Given the description of an element on the screen output the (x, y) to click on. 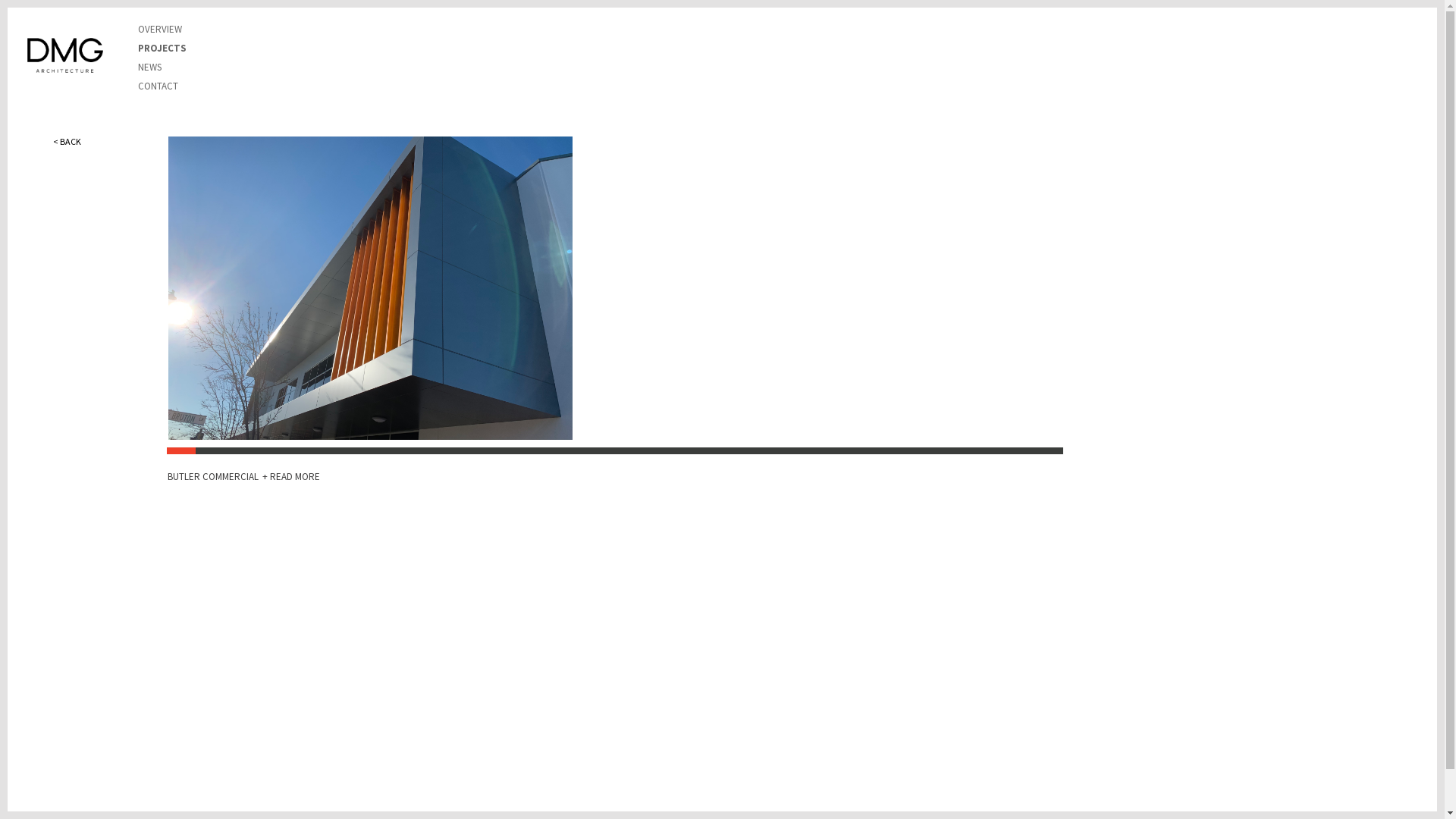
BUTLER COMMERCIAL Element type: text (213, 476)
NEWS Element type: text (149, 66)
+ READ MORE Element type: text (291, 476)
OVERVIEW Element type: text (160, 28)
PROJECTS Element type: text (162, 47)
< BACK Element type: text (67, 141)
CONTACT Element type: text (158, 85)
